Given the description of an element on the screen output the (x, y) to click on. 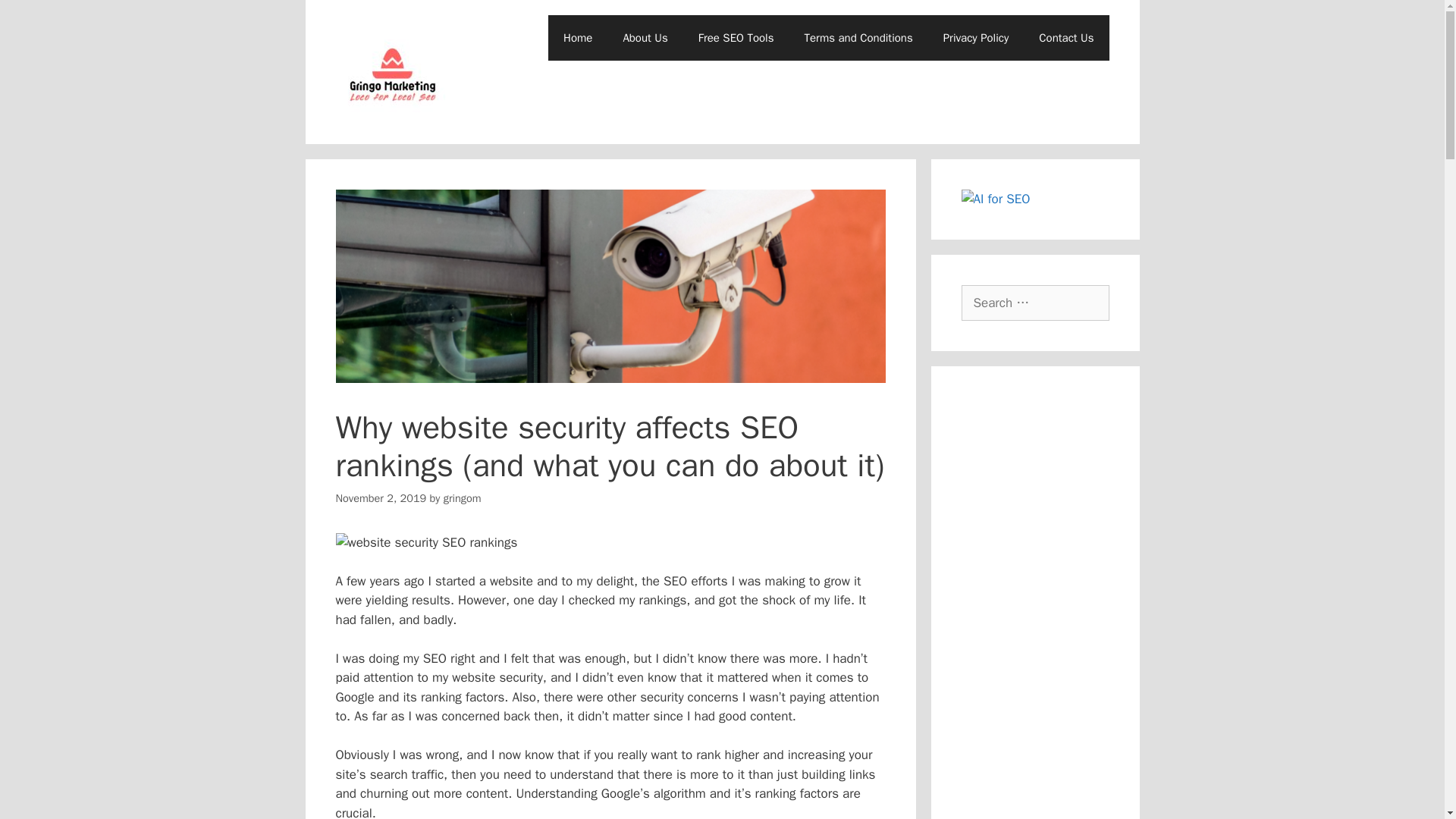
Home (577, 37)
Contact Us (1065, 37)
gringom (462, 498)
View all posts by gringom (462, 498)
Gringo Marketing Blog (391, 71)
Terms and Conditions (858, 37)
Privacy Policy (976, 37)
About Us (644, 37)
Gringo Marketing Blog (391, 70)
Free SEO Tools (735, 37)
Search for: (1034, 303)
